Given the description of an element on the screen output the (x, y) to click on. 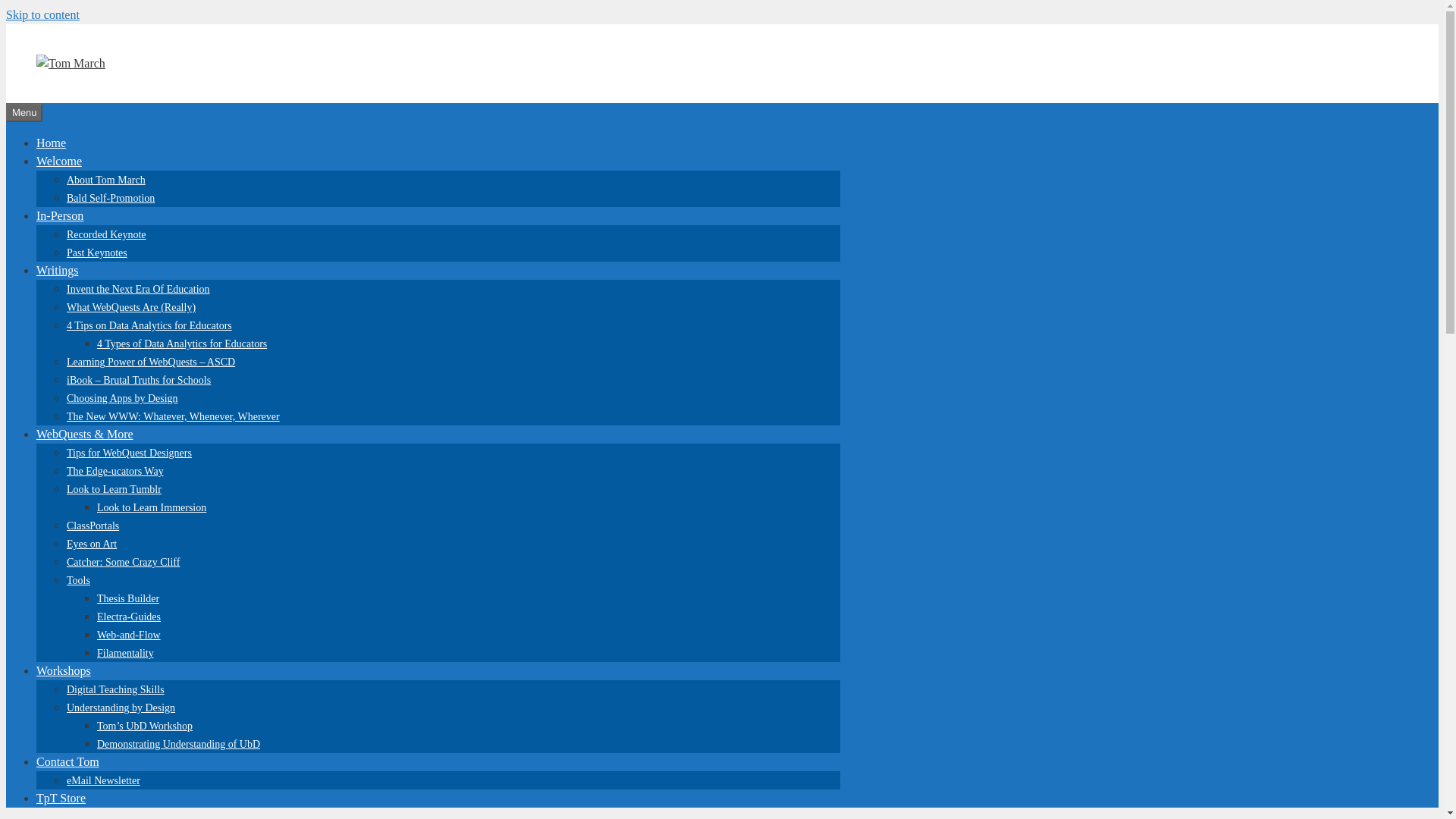
Digital Teaching Skills (115, 689)
About Tom March (105, 179)
Welcome (58, 160)
In-Person (59, 215)
The New WWW: Whatever, Whenever, Wherever (172, 416)
Eyes on Art (91, 543)
TpT Store (60, 797)
Past Keynotes (97, 252)
ClassPortals (92, 525)
Demonstrating Understanding of UbD (178, 744)
Look to Learn Tumblr (113, 489)
Electra-Guides (128, 616)
Tools (78, 580)
Catcher: Some Crazy Cliff (122, 562)
Web-and-Flow (128, 634)
